Given the description of an element on the screen output the (x, y) to click on. 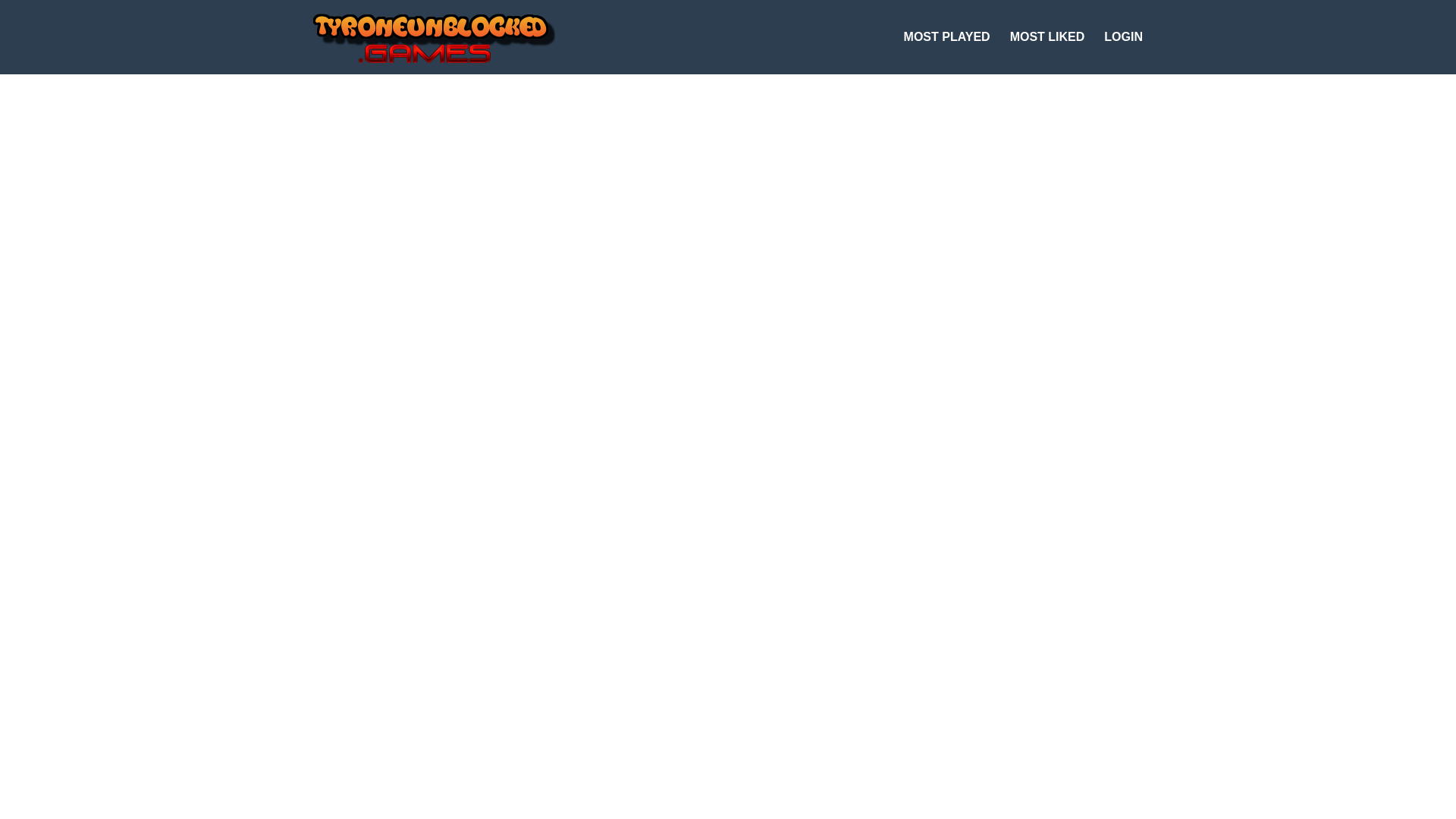
MOST PLAYED (946, 37)
MOST LIKED (1047, 37)
LOGIN (1122, 37)
